Given the description of an element on the screen output the (x, y) to click on. 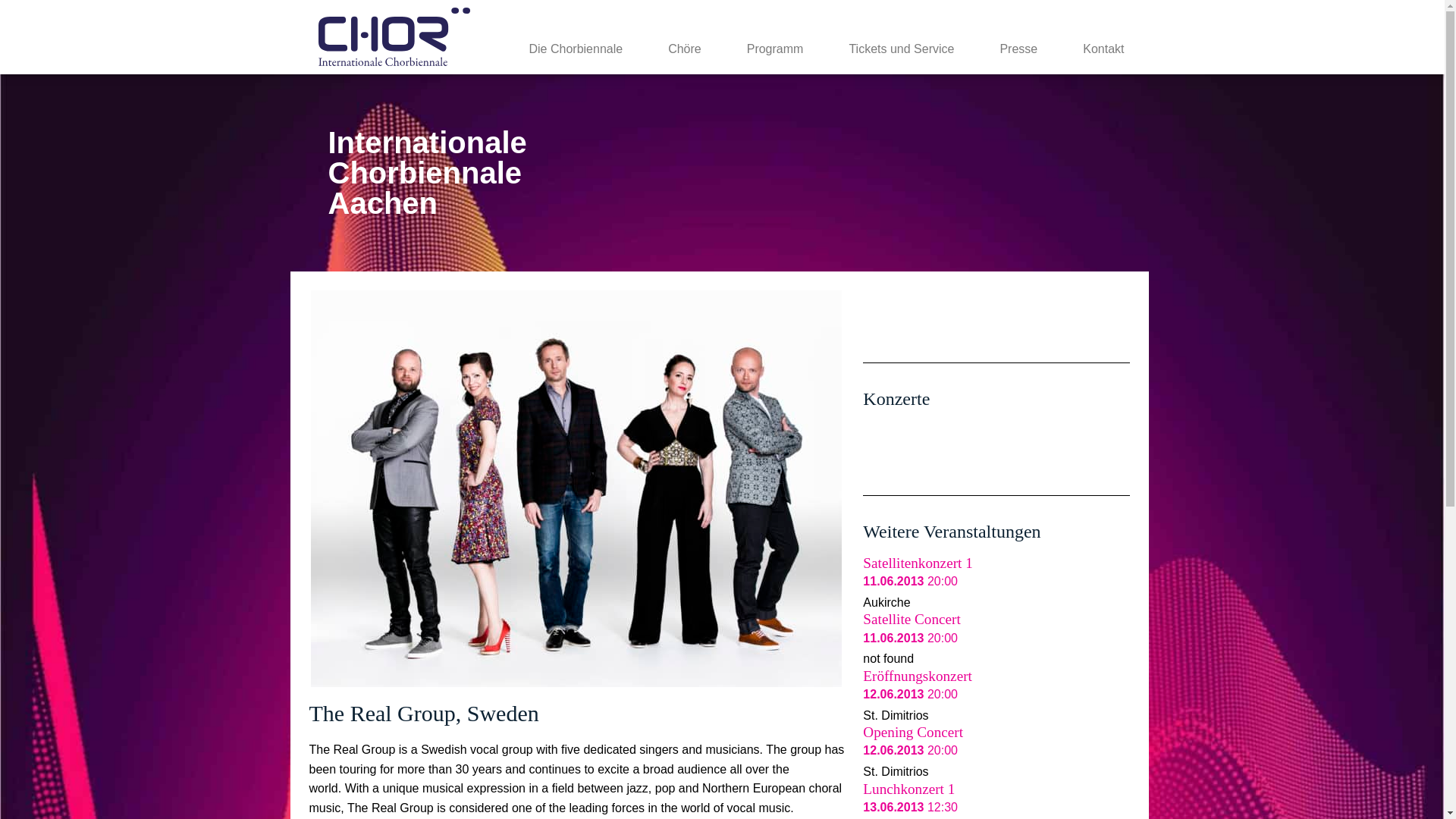
Presse (1017, 48)
12.06.2013 20:00 (910, 749)
13.06.2013 12:30 (910, 807)
Programm (775, 48)
11.06.2013 20:00 (910, 581)
12.06.2013 20:00 (910, 694)
logo-chorbienale (394, 36)
11.06.2013 20:00 (910, 637)
Die Chorbiennale (576, 48)
Satellitenkonzert 1 (917, 562)
Satellite Concert (911, 618)
Lunchkonzert 1 (909, 788)
Tickets und Service (900, 48)
Kontakt (1103, 48)
Opening Concert (912, 731)
